Given the description of an element on the screen output the (x, y) to click on. 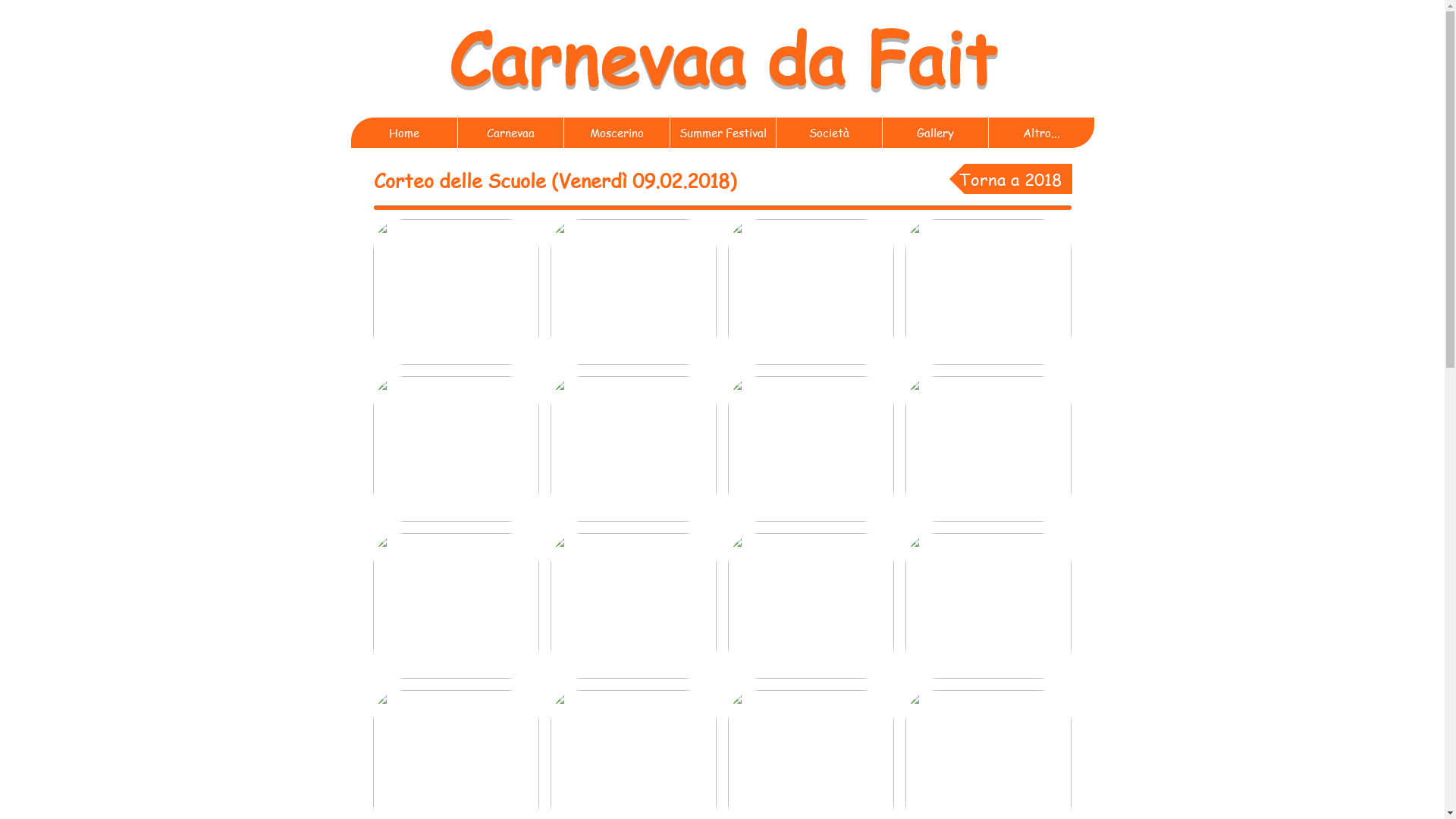
Carnevaa Element type: text (509, 132)
Moscerino Element type: text (615, 132)
Torna a 2018 Element type: text (1010, 178)
Gallery Element type: text (934, 132)
Home Element type: text (403, 132)
Summer Festival Element type: text (721, 132)
Carnevaa Element type: text (595, 55)
